Given the description of an element on the screen output the (x, y) to click on. 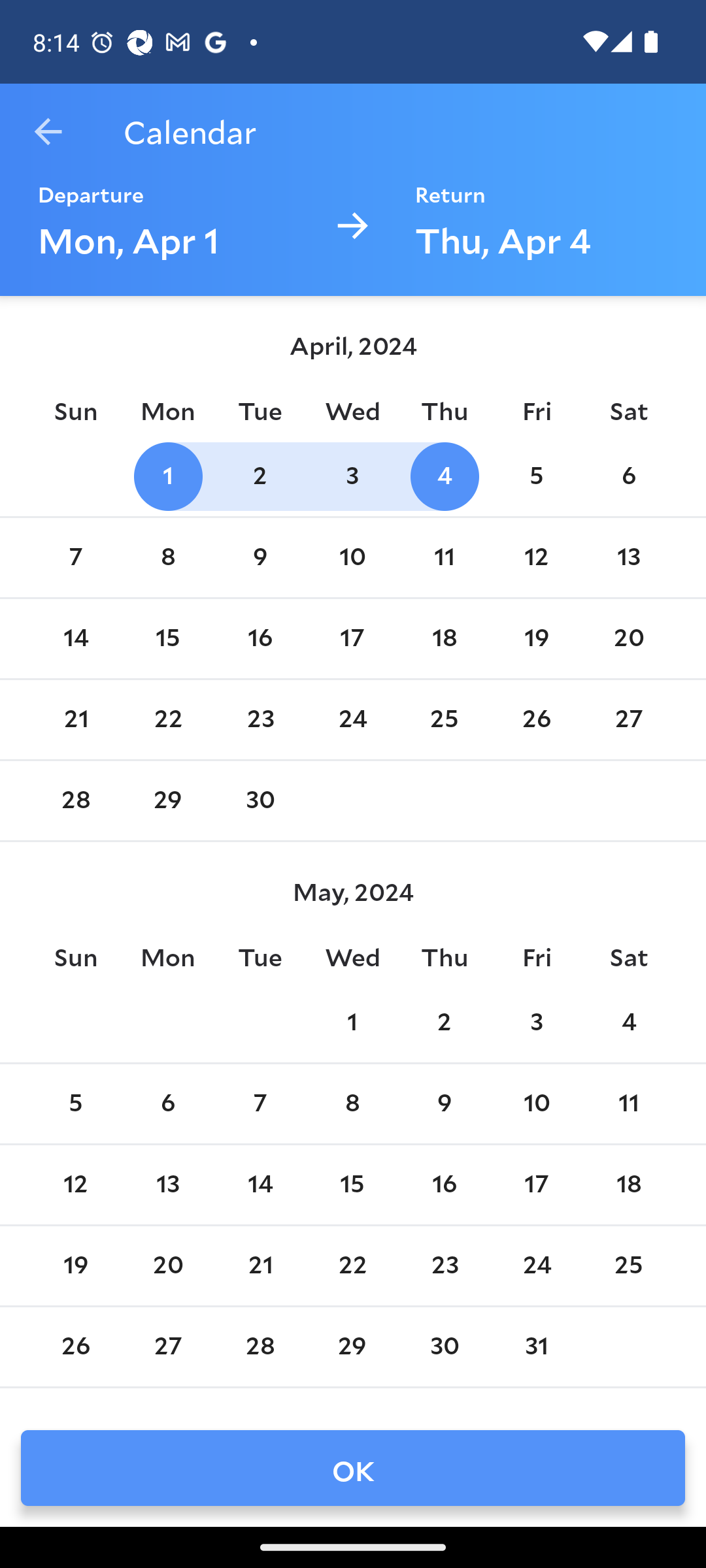
Navigate up (48, 131)
1 (168, 476)
2 (260, 476)
3 (352, 476)
4 (444, 476)
5 (536, 476)
6 (629, 476)
7 (75, 557)
8 (168, 557)
9 (260, 557)
10 (352, 557)
11 (444, 557)
12 (536, 557)
13 (629, 557)
14 (75, 637)
15 (168, 637)
16 (260, 637)
17 (352, 637)
18 (444, 637)
19 (536, 637)
20 (629, 637)
21 (75, 719)
22 (168, 719)
23 (260, 719)
24 (352, 719)
25 (444, 719)
26 (536, 719)
27 (629, 719)
28 (75, 800)
29 (168, 800)
30 (260, 800)
1 (352, 1021)
2 (444, 1021)
3 (536, 1021)
4 (629, 1021)
5 (75, 1103)
6 (168, 1103)
7 (260, 1103)
8 (352, 1103)
9 (444, 1103)
10 (536, 1103)
11 (629, 1103)
12 (75, 1184)
13 (168, 1184)
14 (260, 1184)
15 (352, 1184)
16 (444, 1184)
17 (536, 1184)
18 (629, 1184)
19 (75, 1264)
20 (168, 1264)
21 (260, 1264)
22 (352, 1264)
23 (444, 1264)
24 (536, 1264)
25 (629, 1264)
26 (75, 1346)
27 (168, 1346)
28 (260, 1346)
29 (352, 1346)
30 (444, 1346)
31 (536, 1346)
OK (352, 1467)
